Given the description of an element on the screen output the (x, y) to click on. 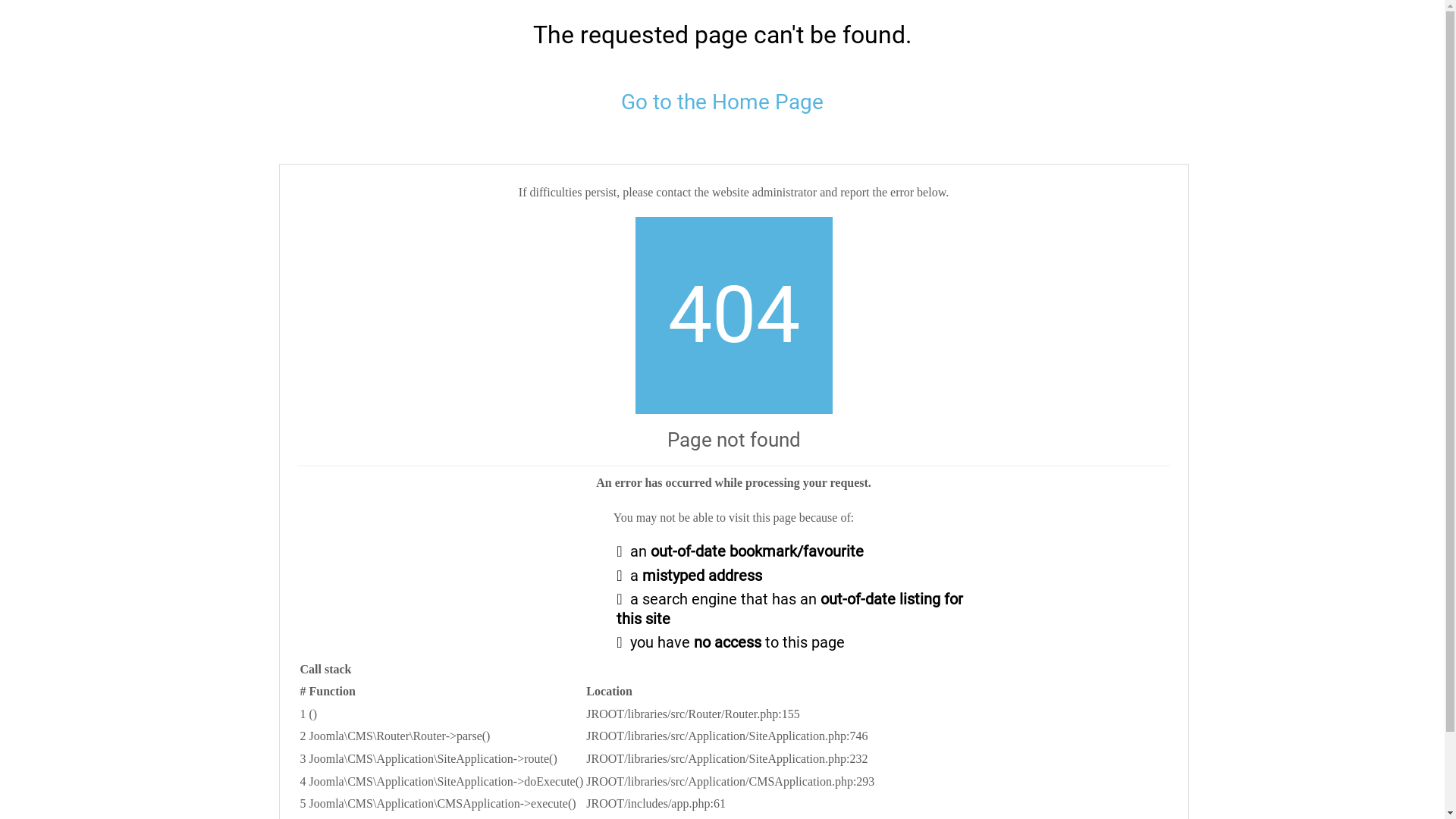
Go to the Home Page Element type: text (722, 101)
